Given the description of an element on the screen output the (x, y) to click on. 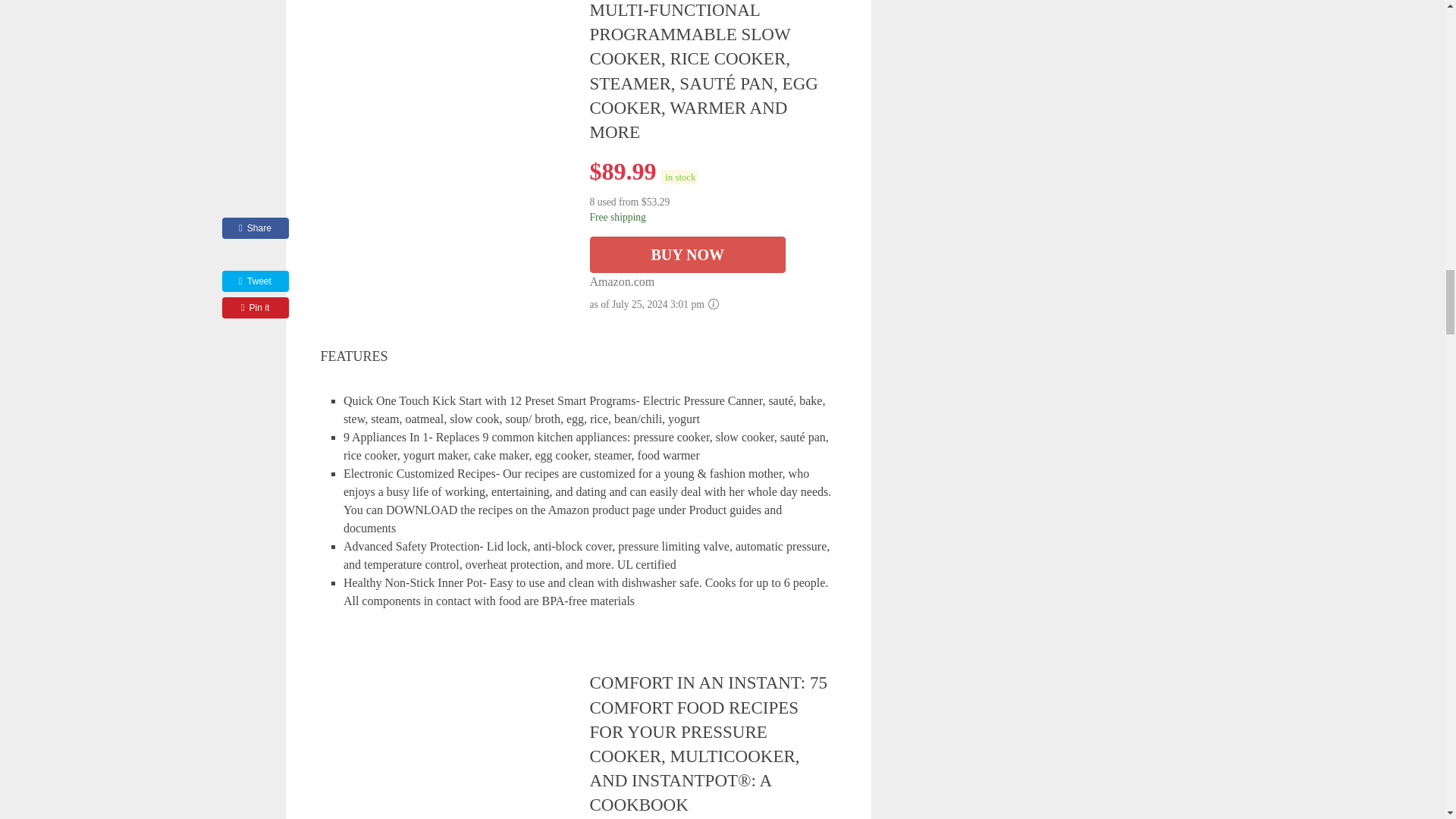
Last updated on July 25, 2024 3:01 pm (679, 176)
